Given the description of an element on the screen output the (x, y) to click on. 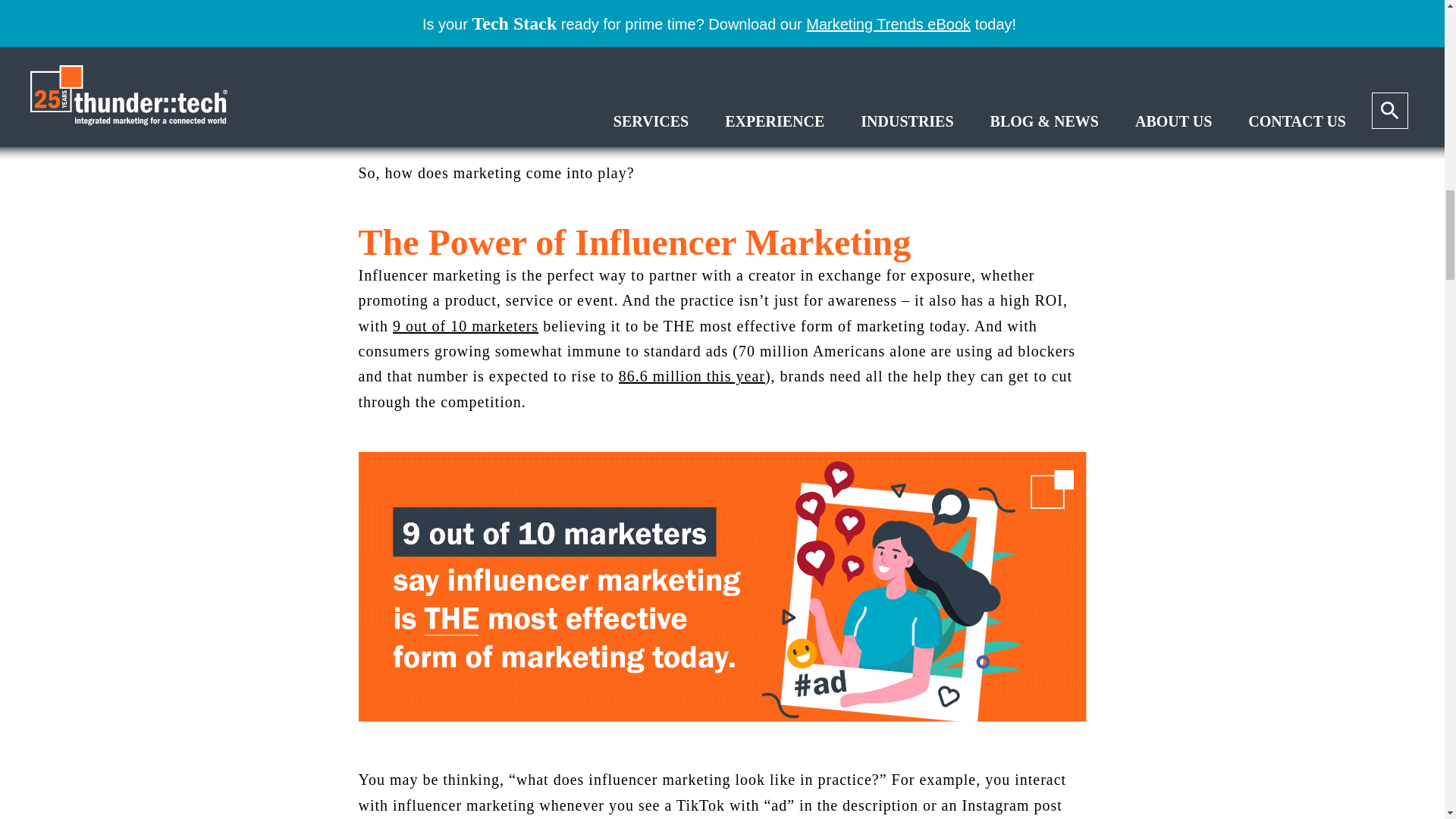
86.6 million this year (691, 375)
9 out of 10 marketers (465, 325)
